Given the description of an element on the screen output the (x, y) to click on. 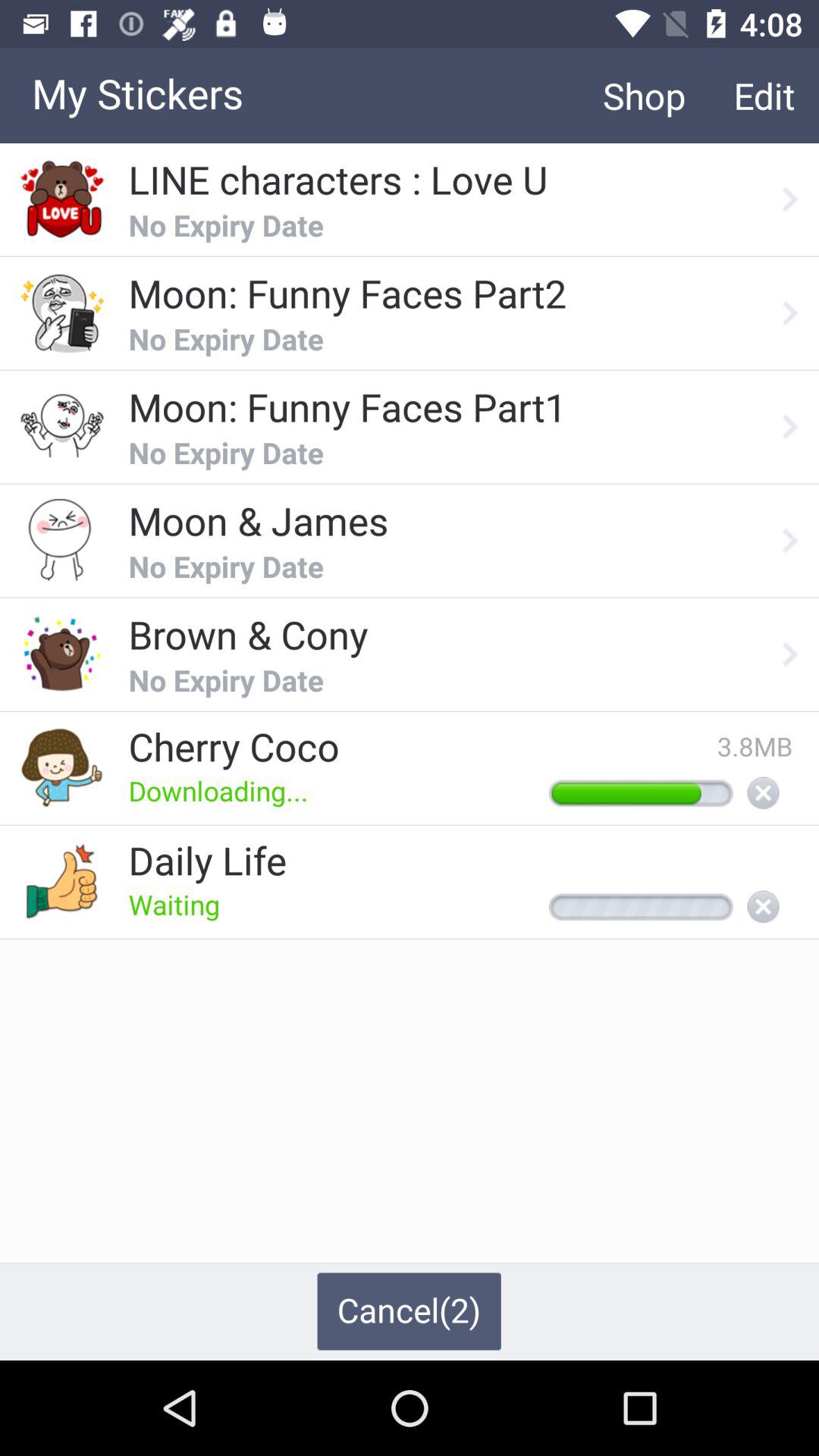
cancel download (762, 794)
